Given the description of an element on the screen output the (x, y) to click on. 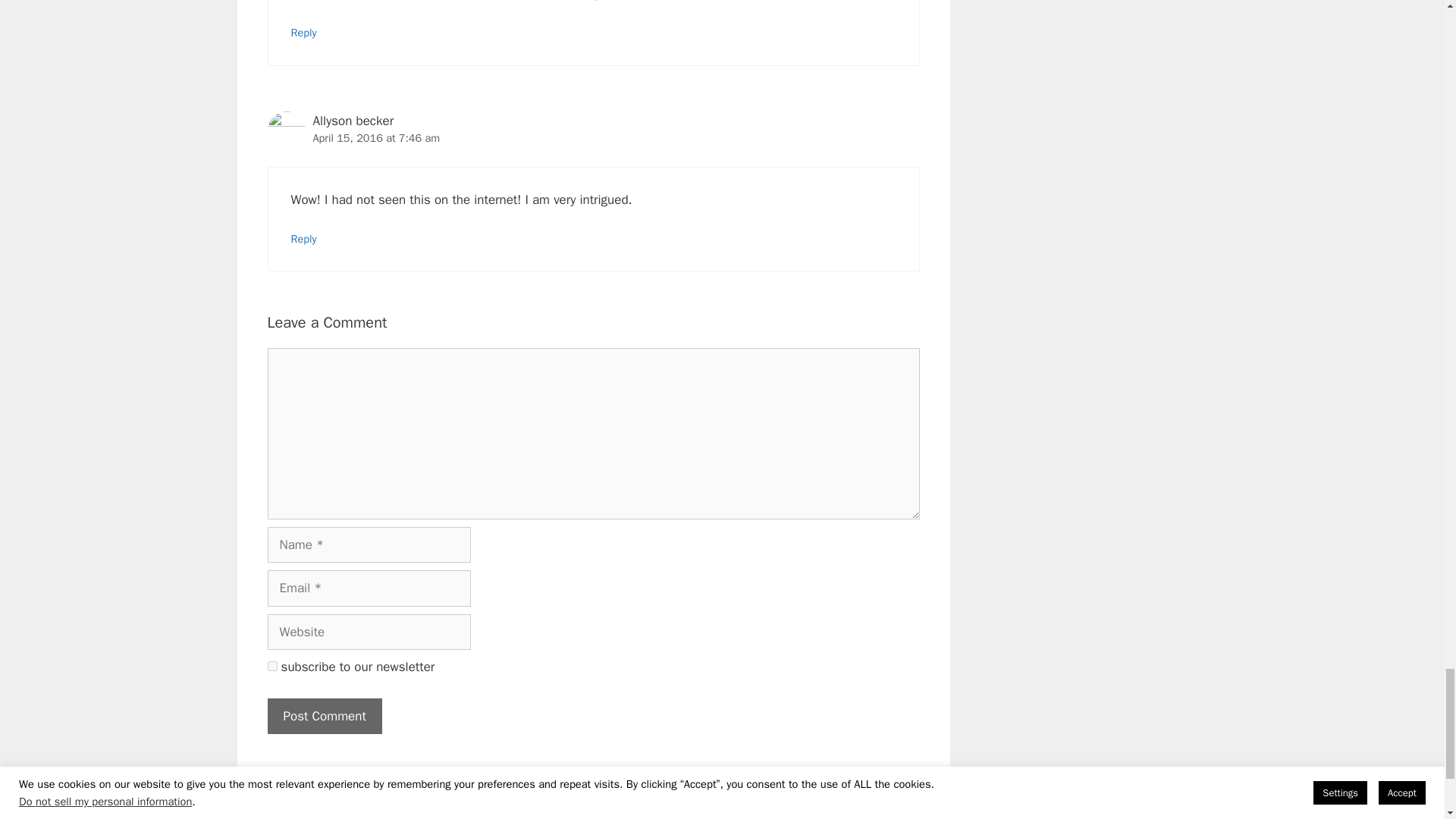
1 (271, 665)
Post Comment (323, 716)
